Given the description of an element on the screen output the (x, y) to click on. 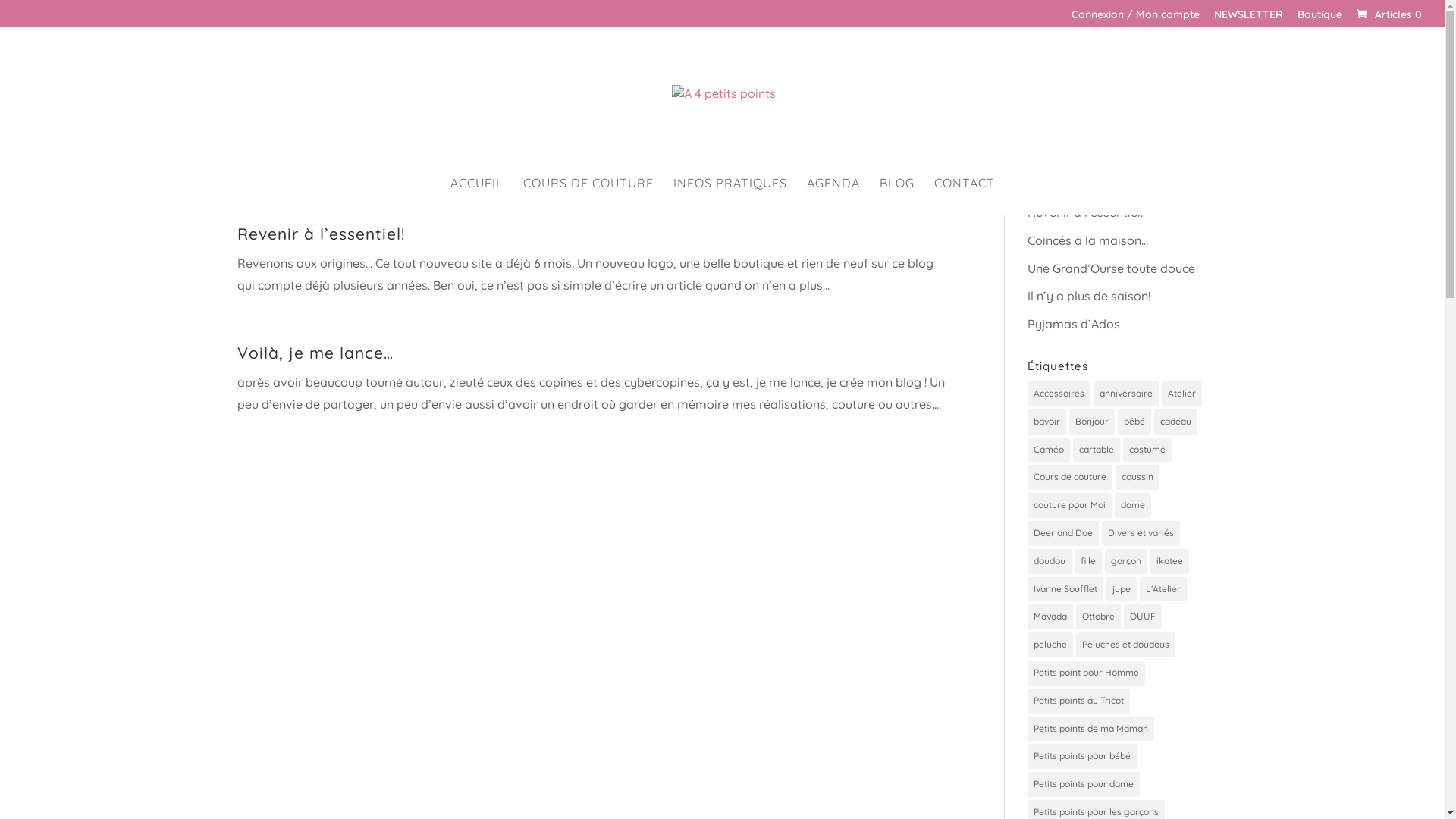
INFOS PRATIQUES Element type: text (730, 196)
Petits points de ma Maman Element type: text (1090, 728)
Ivanne Soufflet Element type: text (1065, 589)
Articles 0 Element type: text (1387, 14)
couture pour Moi Element type: text (1069, 504)
BLOG Element type: text (896, 196)
costume Element type: text (1147, 449)
peluche Element type: text (1050, 644)
Boutique Element type: text (1319, 18)
bavoir Element type: text (1046, 421)
Mavada Element type: text (1050, 616)
Peluches et doudous Element type: text (1125, 644)
Accessoires Element type: text (1058, 393)
Petits point pour Homme Element type: text (1086, 672)
ACCUEIL Element type: text (476, 196)
Bonjour Element type: text (1091, 421)
OUUF Element type: text (1142, 616)
cadeau Element type: text (1175, 421)
anniversaire Element type: text (1125, 393)
L'Atelier Element type: text (1162, 589)
cartable Element type: text (1096, 449)
NEWSLETTER Element type: text (1248, 18)
Petits points pour dame Element type: text (1083, 784)
Cours de couture Element type: text (1069, 476)
Petits points au Tricot Element type: text (1078, 700)
dame Element type: text (1132, 504)
coussin Element type: text (1137, 476)
Ottobre Element type: text (1098, 616)
Connexion / Mon compte Element type: text (1135, 18)
doudou Element type: text (1049, 561)
CONTACT Element type: text (964, 196)
jupe Element type: text (1121, 589)
Atelier Element type: text (1181, 393)
AGENDA Element type: text (832, 196)
ikatee Element type: text (1169, 561)
Deer and Doe Element type: text (1062, 533)
COURS DE COUTURE Element type: text (588, 196)
fille Element type: text (1087, 561)
